Given the description of an element on the screen output the (x, y) to click on. 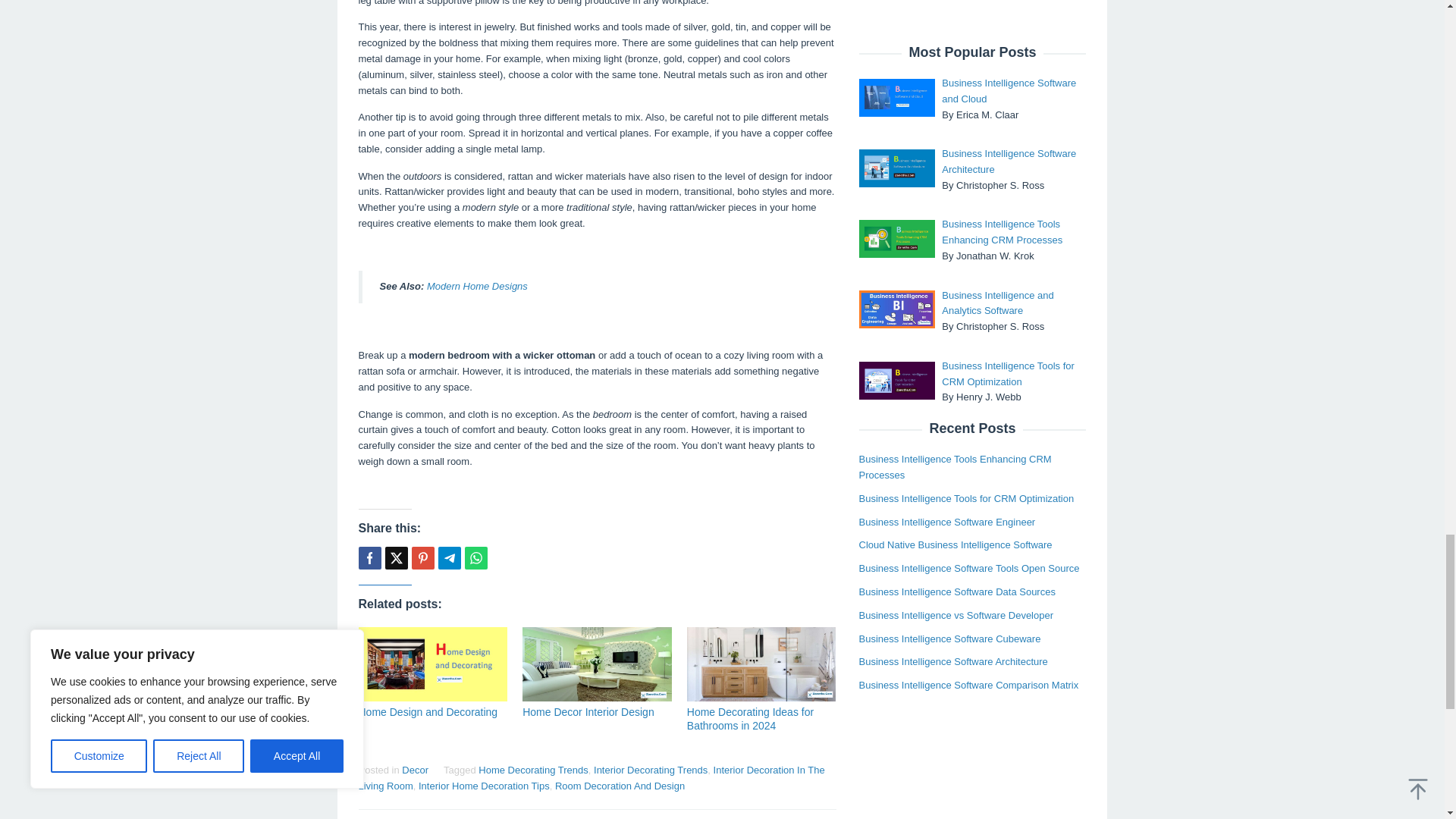
Tweet this (396, 558)
Share this (369, 558)
